Given the description of an element on the screen output the (x, y) to click on. 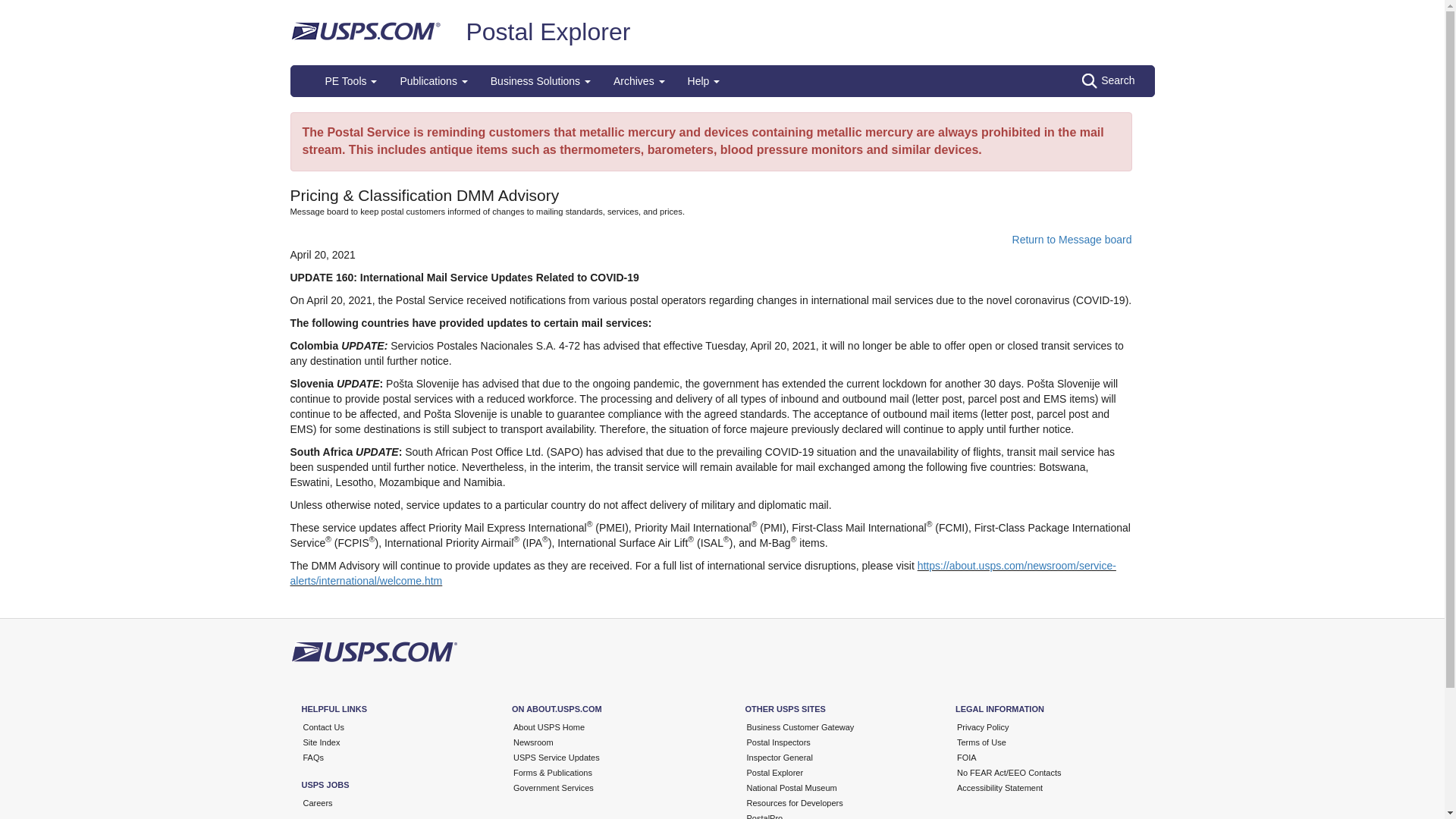
Postal Explorer (547, 31)
Business Solutions (540, 81)
PE Tools (351, 81)
Publications (433, 81)
